Given the description of an element on the screen output the (x, y) to click on. 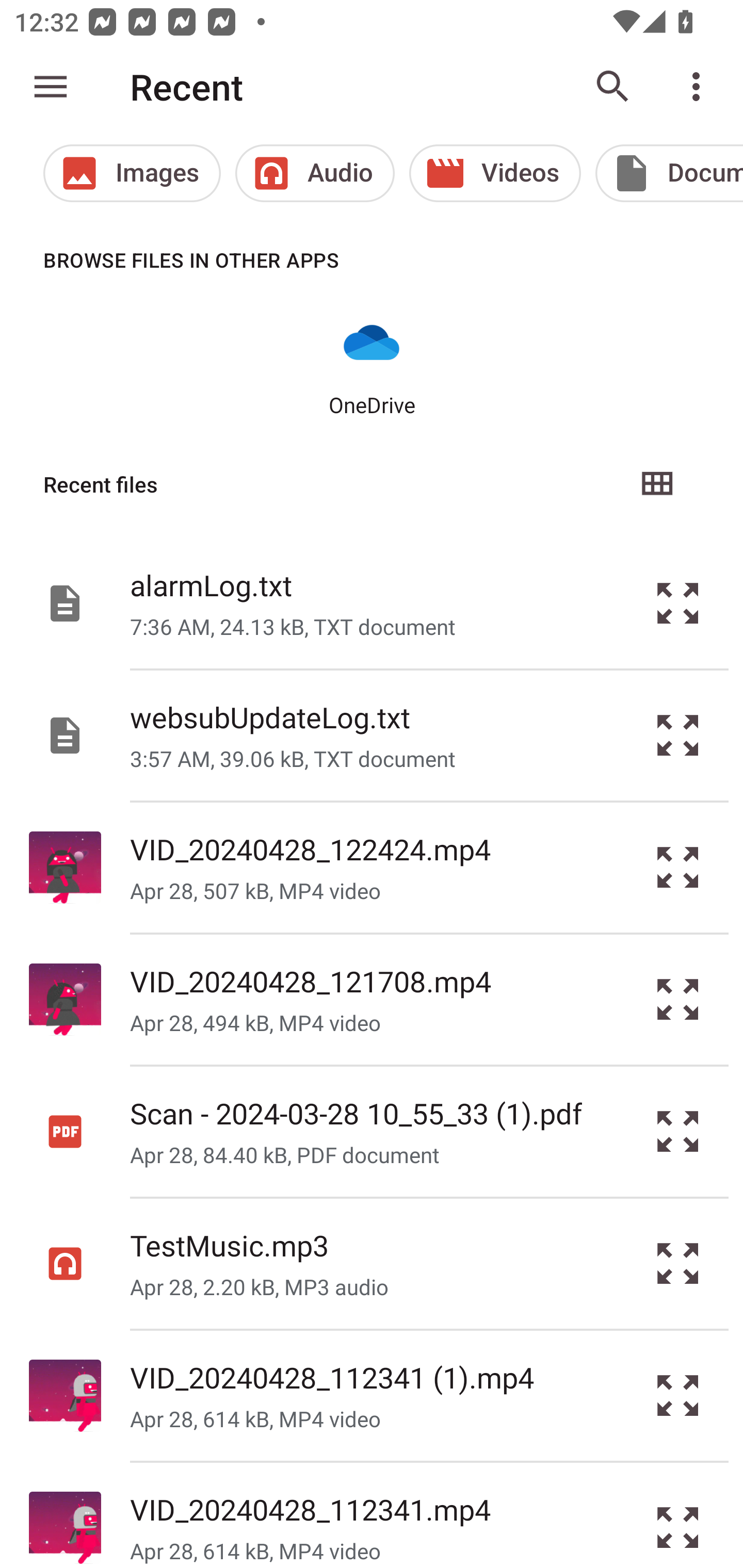
Show roots (50, 86)
Search (612, 86)
More options (699, 86)
Images (131, 173)
Audio (314, 173)
Videos (495, 173)
Documents (669, 173)
OneDrive (371, 365)
Grid view (655, 484)
Preview the file alarmLog.txt (677, 602)
Preview the file websubUpdateLog.txt (677, 736)
Preview the file VID_20240428_122424.mp4 (677, 867)
Preview the file VID_20240428_121708.mp4 (677, 999)
Preview the file TestMusic.mp3 (677, 1262)
Preview the file VID_20240428_112341 (1).mp4 (677, 1396)
Preview the file VID_20240428_112341.mp4 (677, 1515)
